Given the description of an element on the screen output the (x, y) to click on. 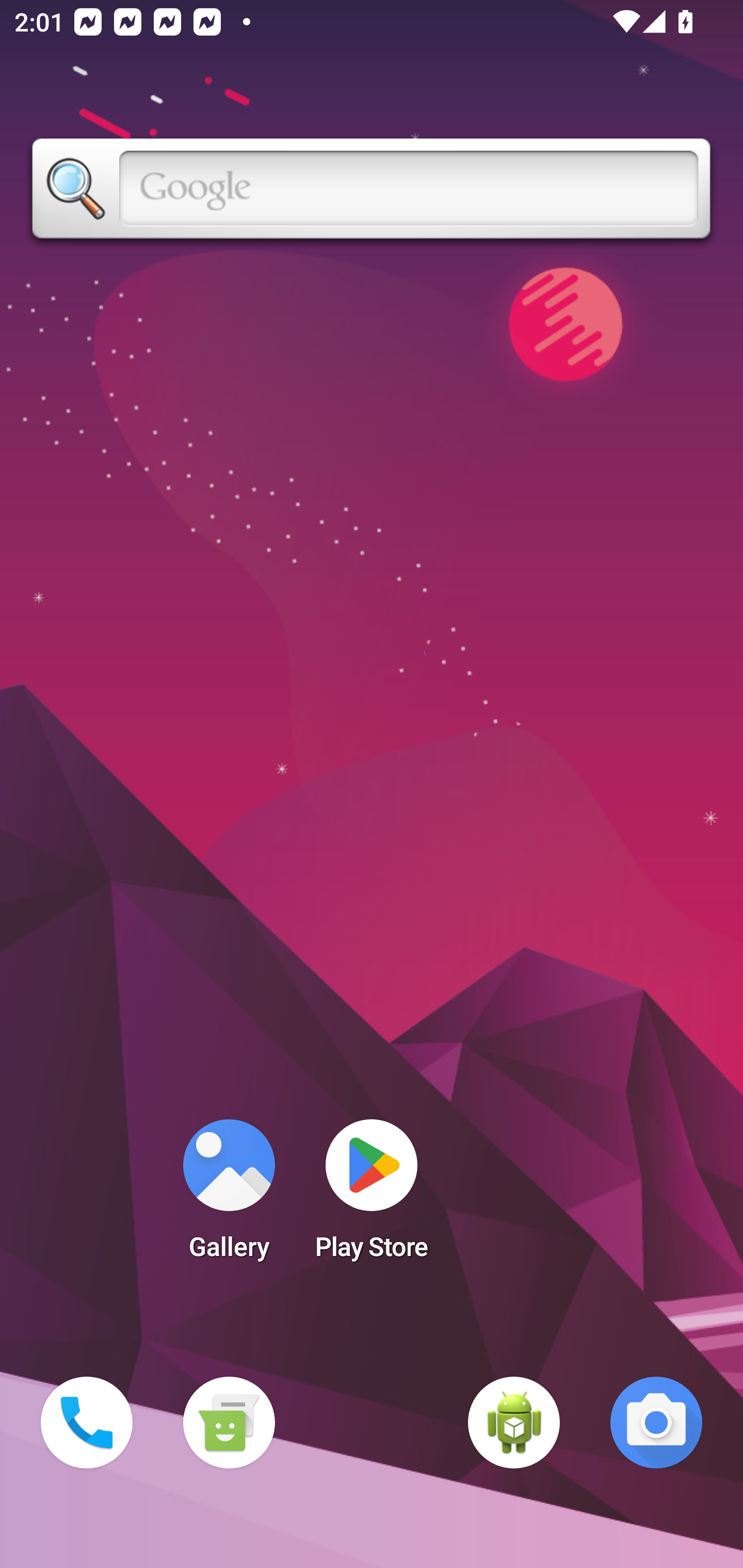
Gallery (228, 1195)
Play Store (371, 1195)
Phone (86, 1422)
Messaging (228, 1422)
WebView Browser Tester (513, 1422)
Camera (656, 1422)
